Given the description of an element on the screen output the (x, y) to click on. 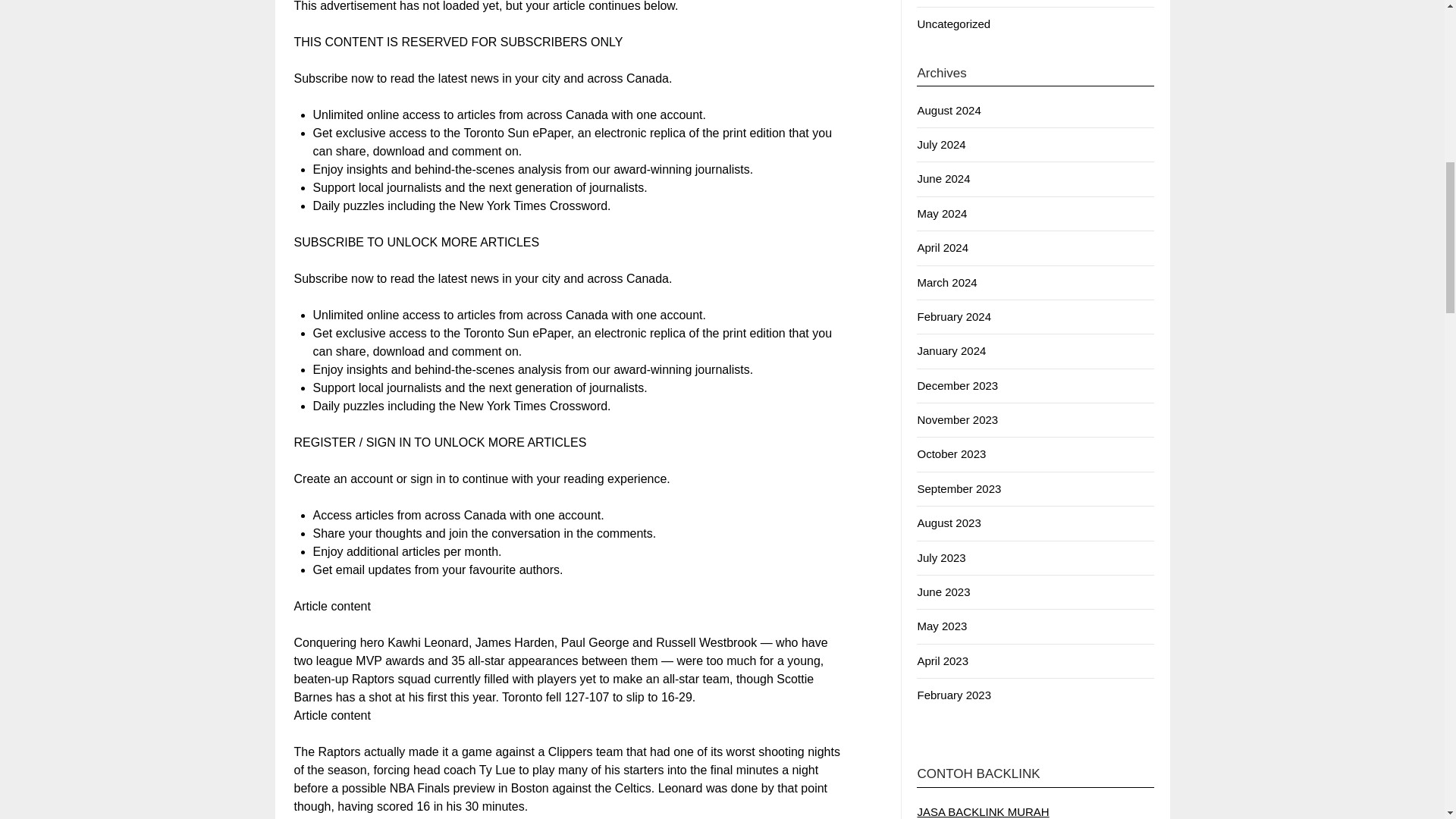
Uncategorized (953, 23)
July 2024 (941, 144)
August 2024 (948, 110)
June 2024 (943, 178)
